Given the description of an element on the screen output the (x, y) to click on. 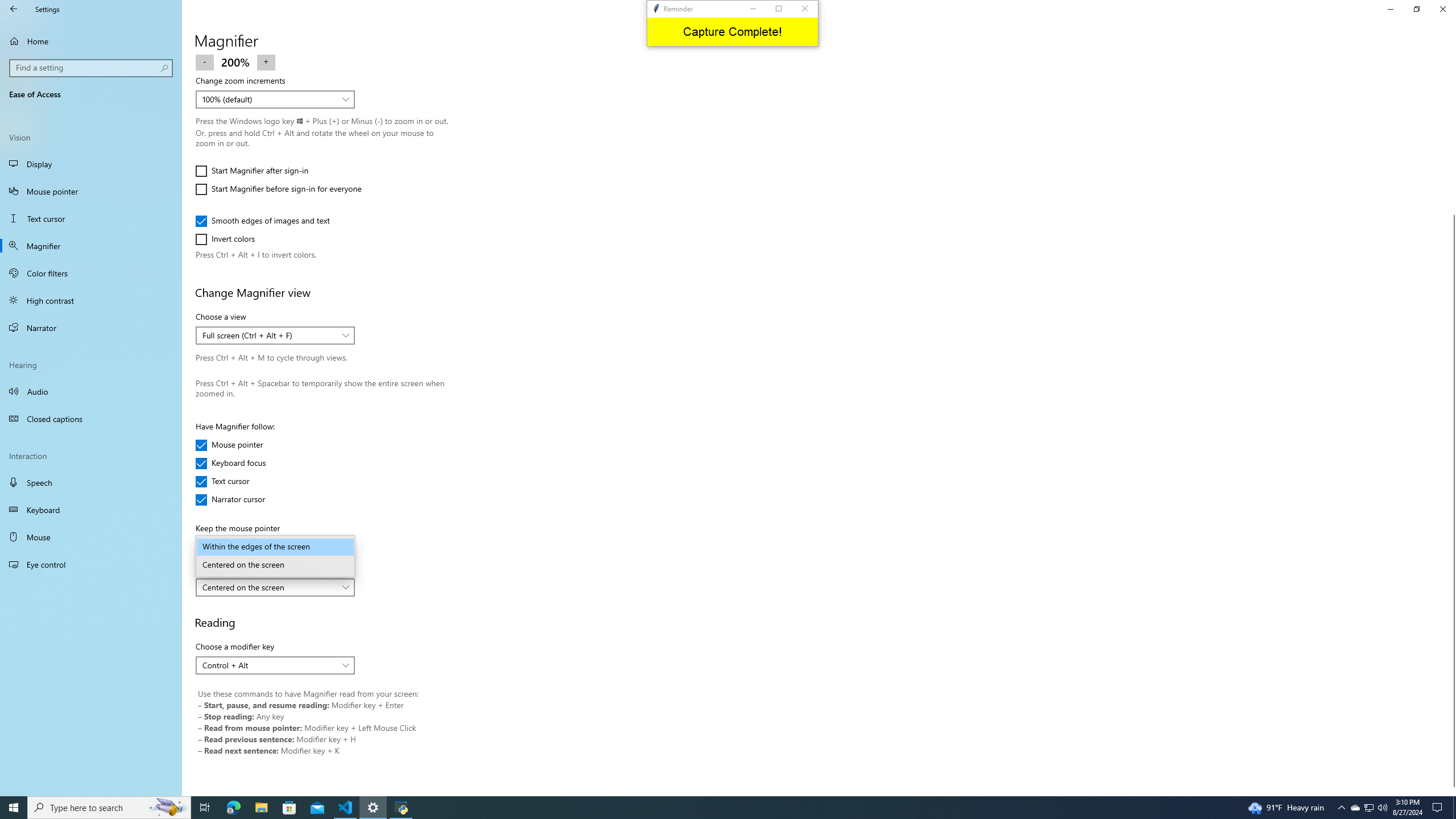
Vertical (1451, 425)
Start Magnifier before sign-in for everyone (278, 189)
Notification Chevron (1341, 807)
Search highlights icon opens search home window (167, 807)
Narrator cursor (229, 499)
Search box, Find a setting (91, 67)
Zoom in (266, 61)
Start Magnifier after sign-in (251, 171)
Within the edges of the screen (274, 547)
Visual Studio Code - 1 running window (345, 807)
Mouse pointer (91, 190)
Vertical Large Decrease (1451, 138)
Type here to search (108, 807)
Magnifier (91, 245)
